Given the description of an element on the screen output the (x, y) to click on. 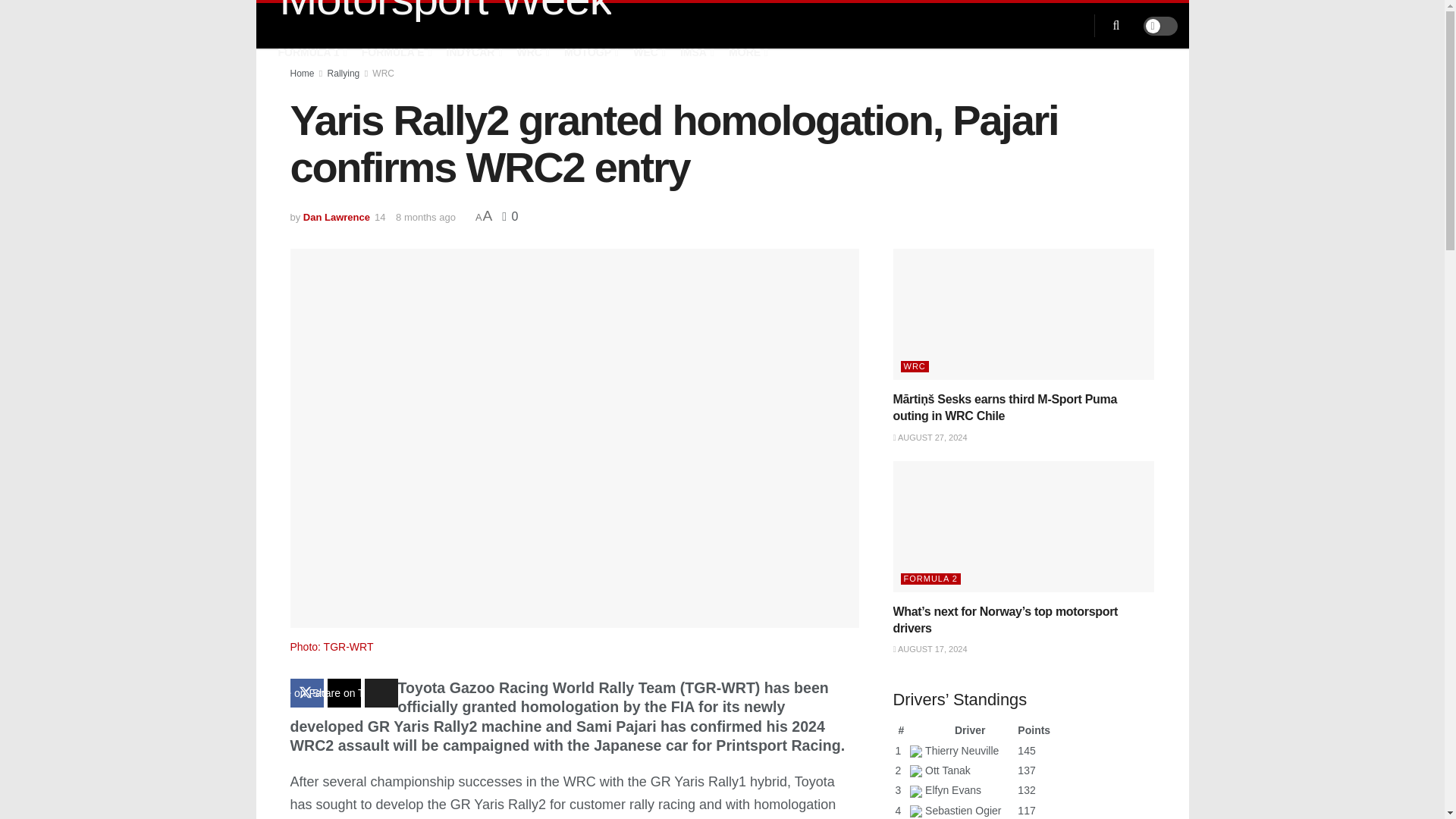
WEC (648, 52)
FORMULA 1 (310, 52)
IMSA (695, 52)
MOTOGP (589, 52)
INDYCAR (473, 52)
FORMULA E (395, 52)
WRC (532, 52)
MORE (747, 52)
